Given the description of an element on the screen output the (x, y) to click on. 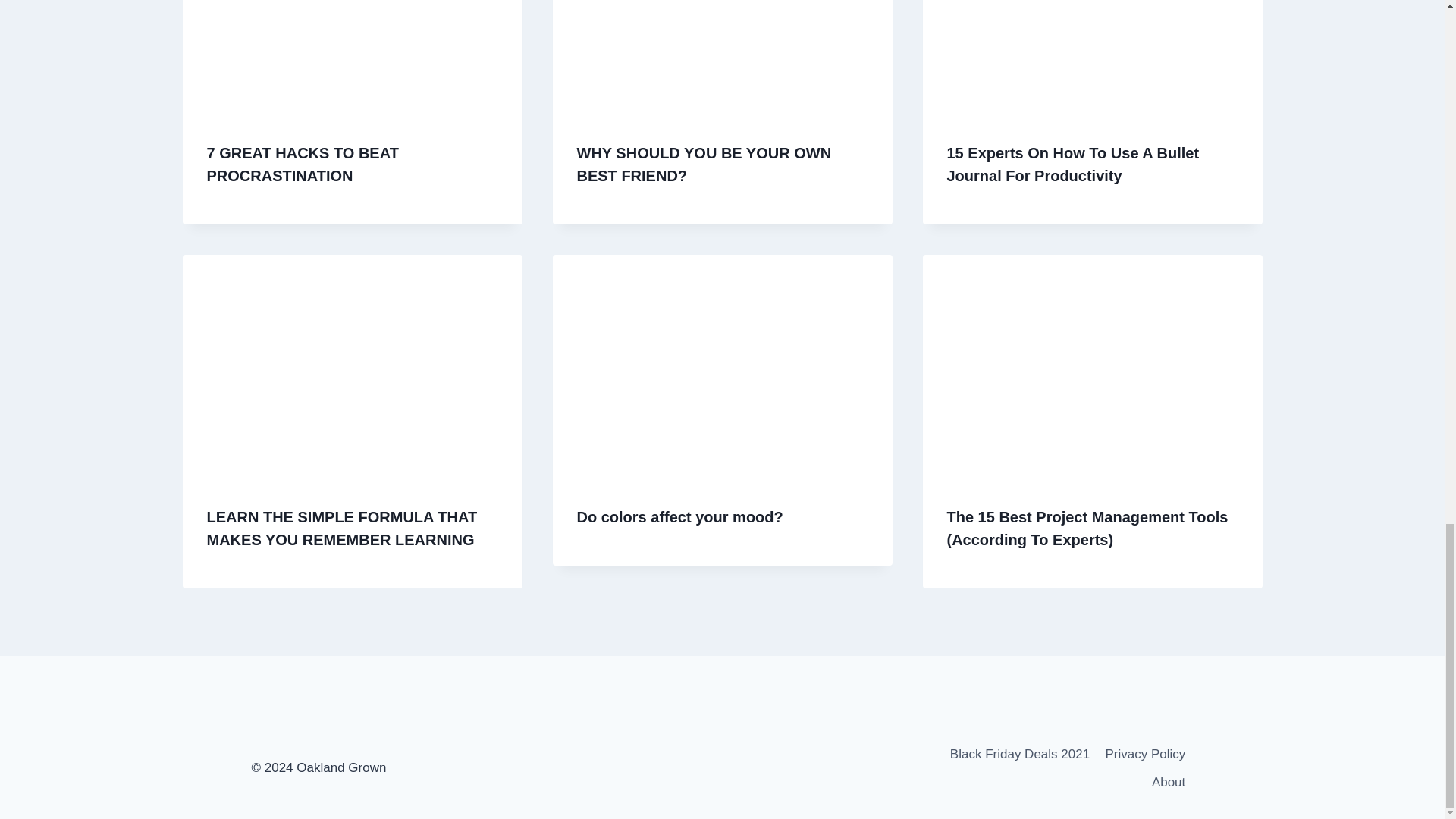
Do colors affect your mood? (679, 516)
Black Friday Deals 2021 (1019, 753)
WHY SHOULD YOU BE YOUR OWN BEST FRIEND? (703, 164)
15 Experts On How To Use A Bullet Journal For Productivity (1072, 164)
7 GREAT HACKS TO BEAT PROCRASTINATION (301, 164)
LEARN THE SIMPLE FORMULA THAT MAKES YOU REMEMBER LEARNING (341, 527)
Privacy Policy (1144, 753)
